Given the description of an element on the screen output the (x, y) to click on. 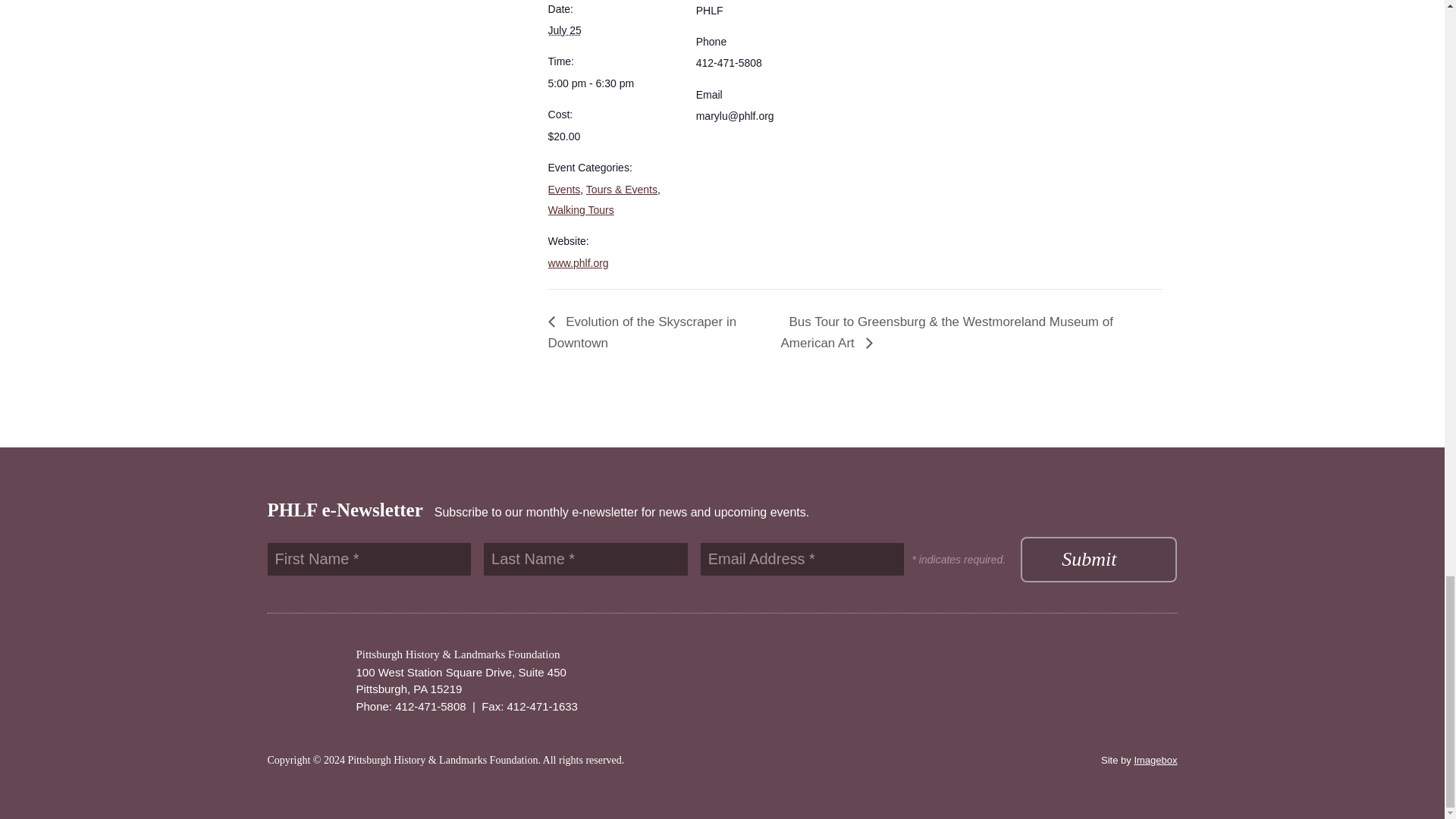
2024-07-25 (613, 83)
Submit (1098, 559)
2024-07-25 (564, 30)
